Given the description of an element on the screen output the (x, y) to click on. 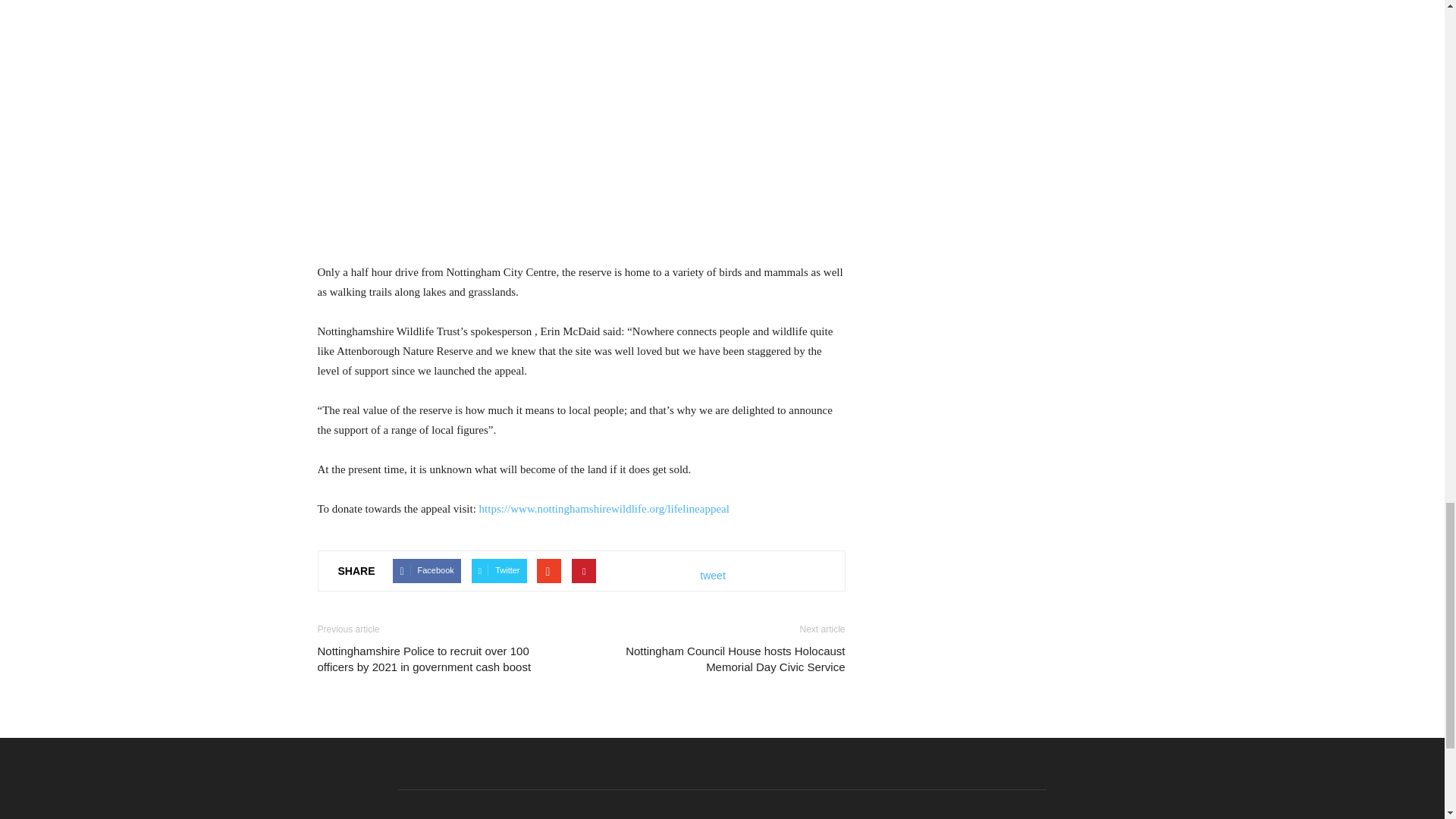
tweet (712, 575)
Twitter (499, 570)
Facebook (426, 570)
